Given the description of an element on the screen output the (x, y) to click on. 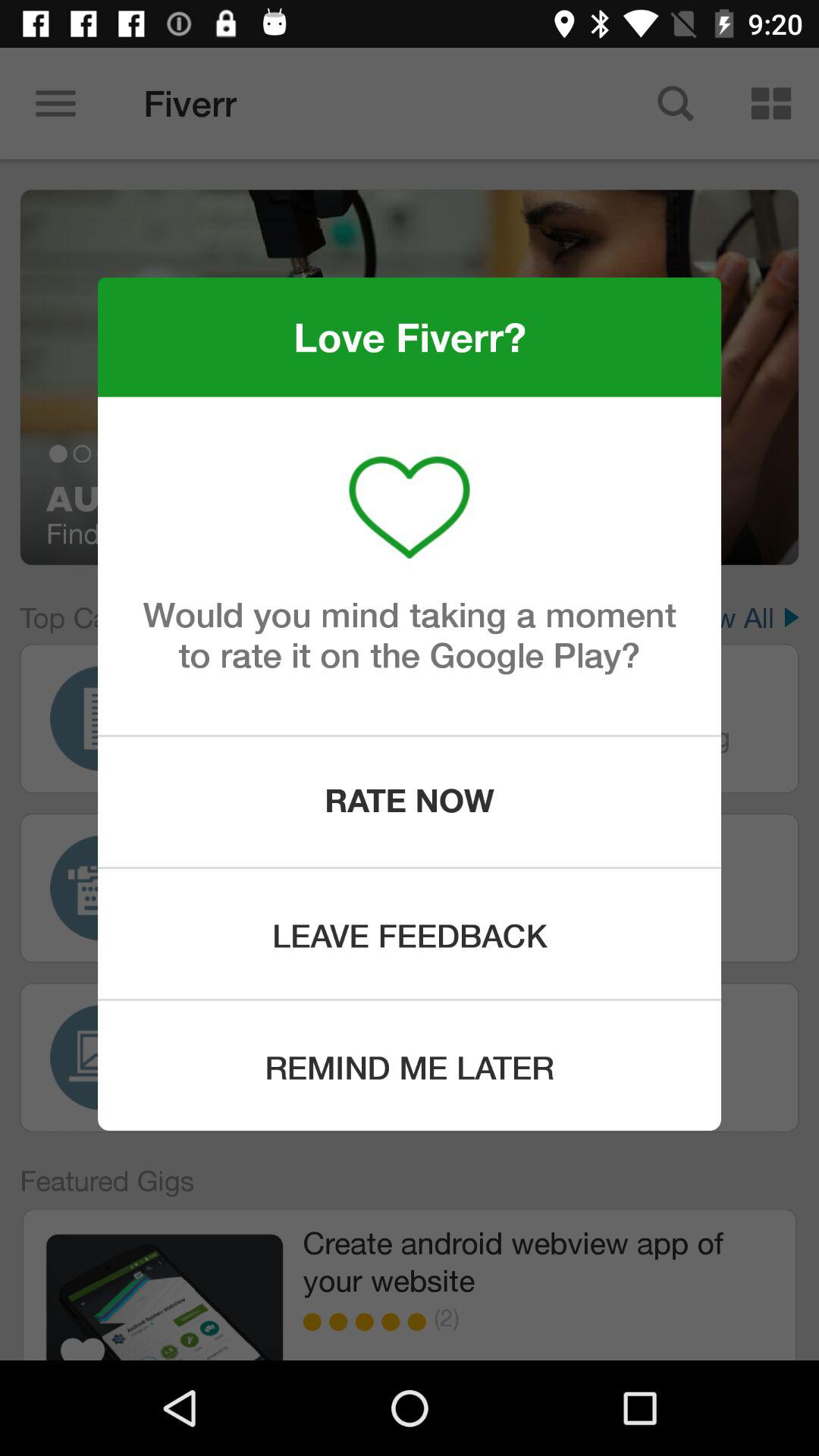
swipe to the rate now icon (409, 801)
